Given the description of an element on the screen output the (x, y) to click on. 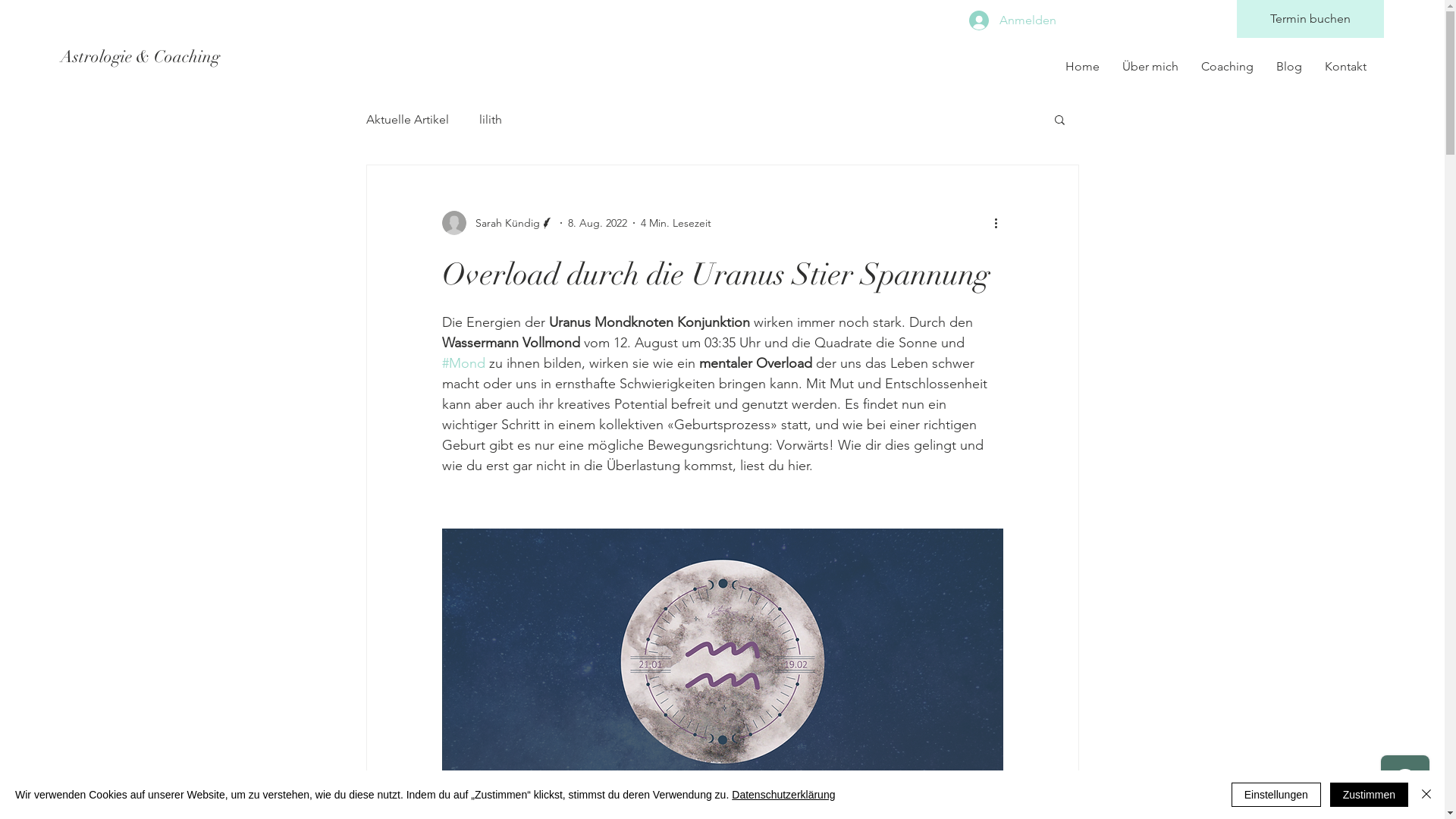
Coaching Element type: text (1226, 66)
Einstellungen Element type: text (1276, 794)
Zustimmen Element type: text (1369, 794)
Anmelden Element type: text (1003, 20)
Aktuelle Artikel Element type: text (406, 119)
Blog Element type: text (1288, 66)
lilith Element type: text (490, 119)
Termin buchen Element type: text (1309, 18)
Home Element type: text (1082, 66)
Kontakt Element type: text (1345, 66)
Astrologie & Coaching Element type: text (251, 56)
#Mond Element type: text (462, 362)
